Given the description of an element on the screen output the (x, y) to click on. 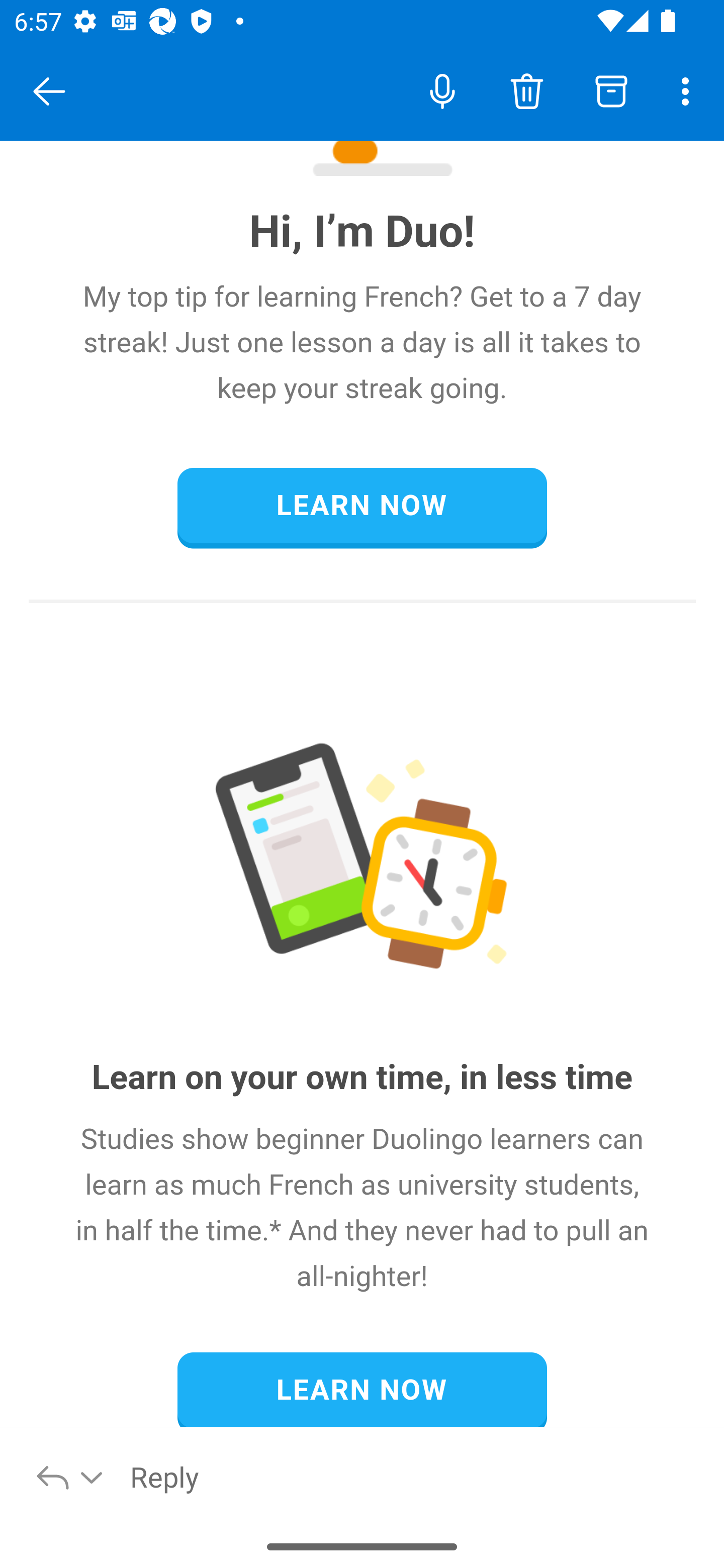
Close (49, 91)
Delete (526, 90)
Archive (611, 90)
More options (688, 90)
  LEARN NOW   (361, 506)
image (362, 863)
  LEARN NOW   (361, 1388)
Reply options (70, 1475)
Reply (416, 1475)
